Given the description of an element on the screen output the (x, y) to click on. 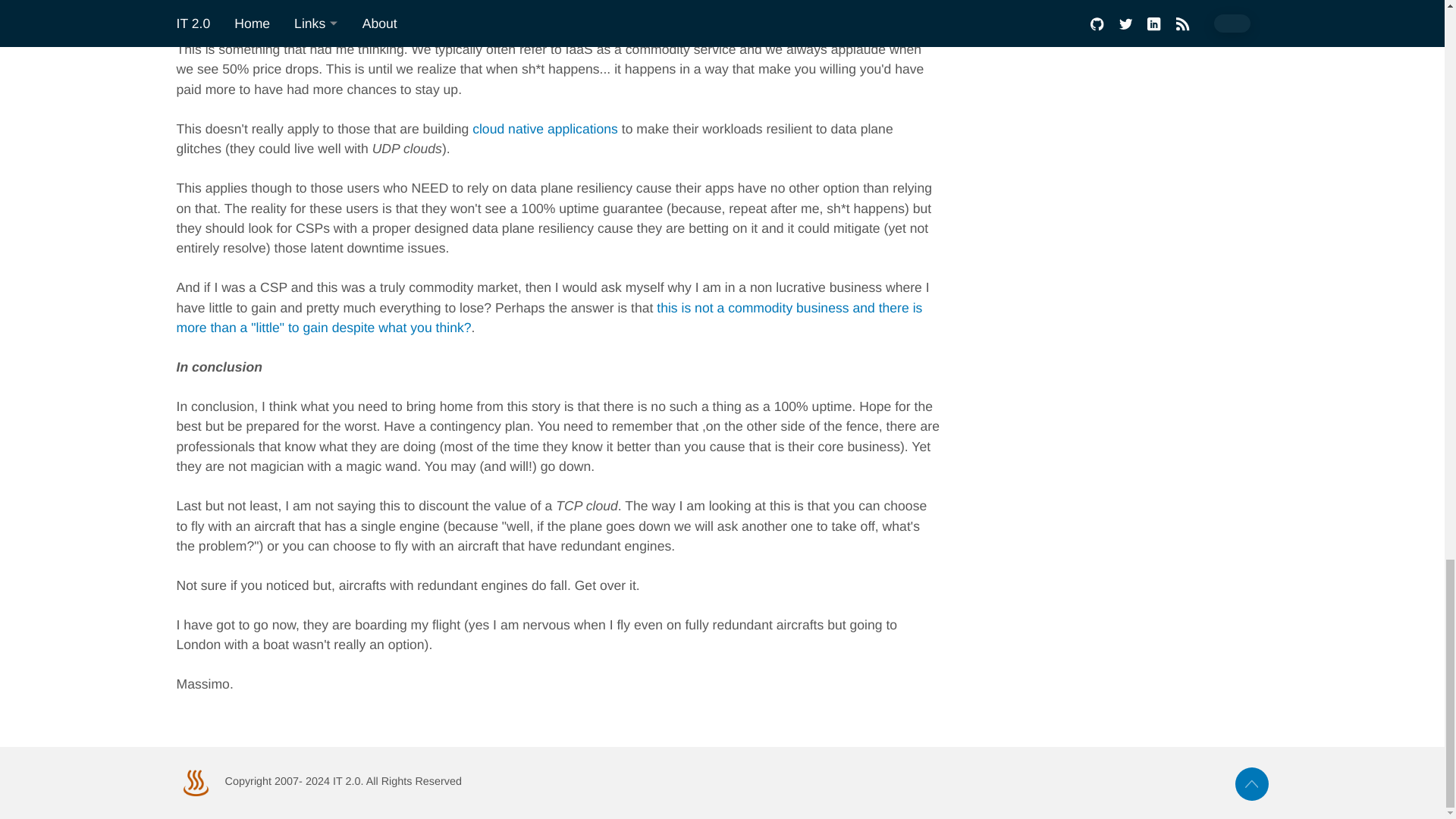
cloud native applications (544, 128)
